Given the description of an element on the screen output the (x, y) to click on. 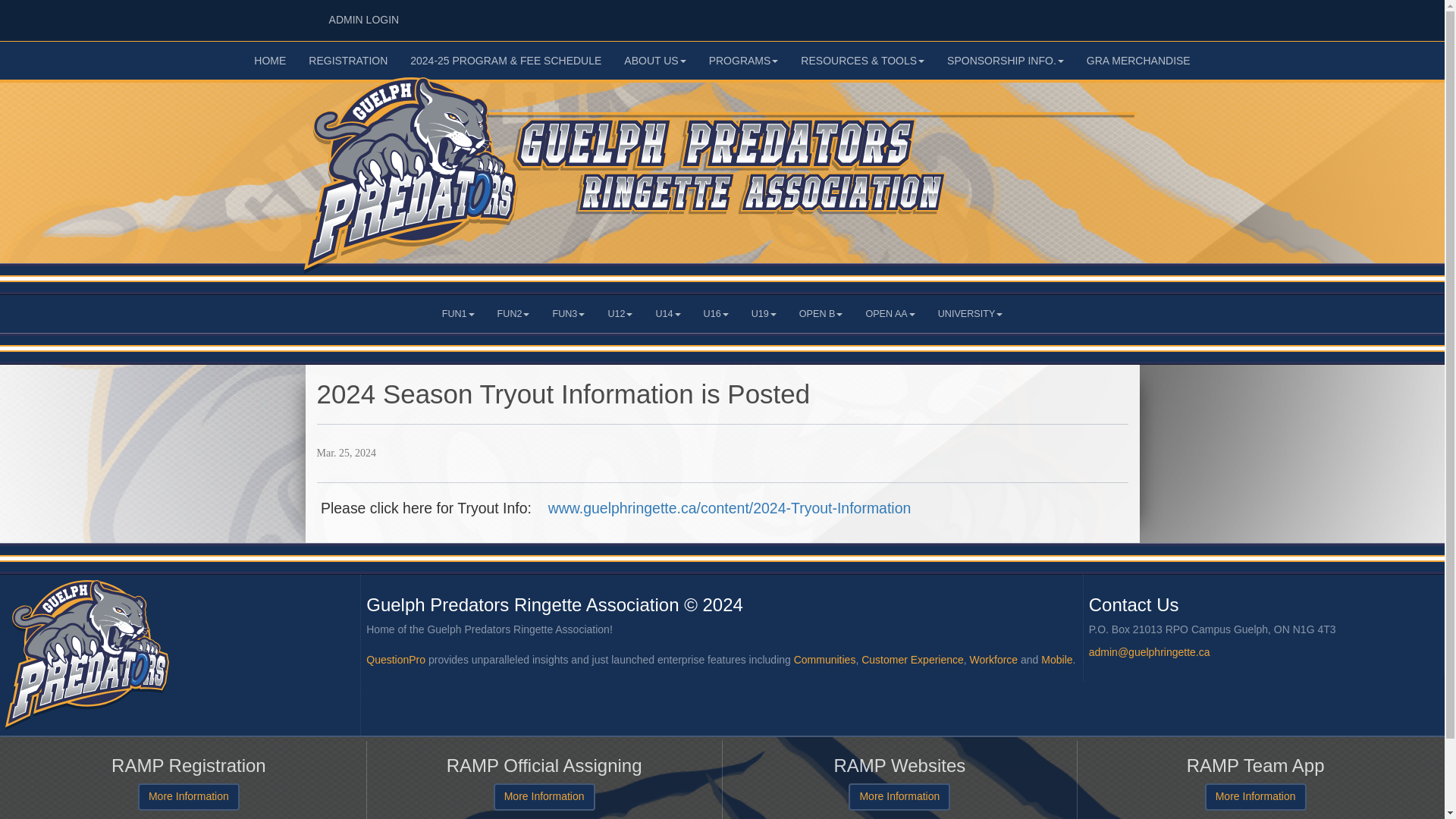
REGISTRATION (347, 60)
Instagram (363, 20)
Youtube (1106, 14)
PROGRAMS (1061, 14)
Twitter (743, 60)
HOME (1084, 14)
Facebook (270, 60)
ABOUT US (1038, 14)
